Given the description of an element on the screen output the (x, y) to click on. 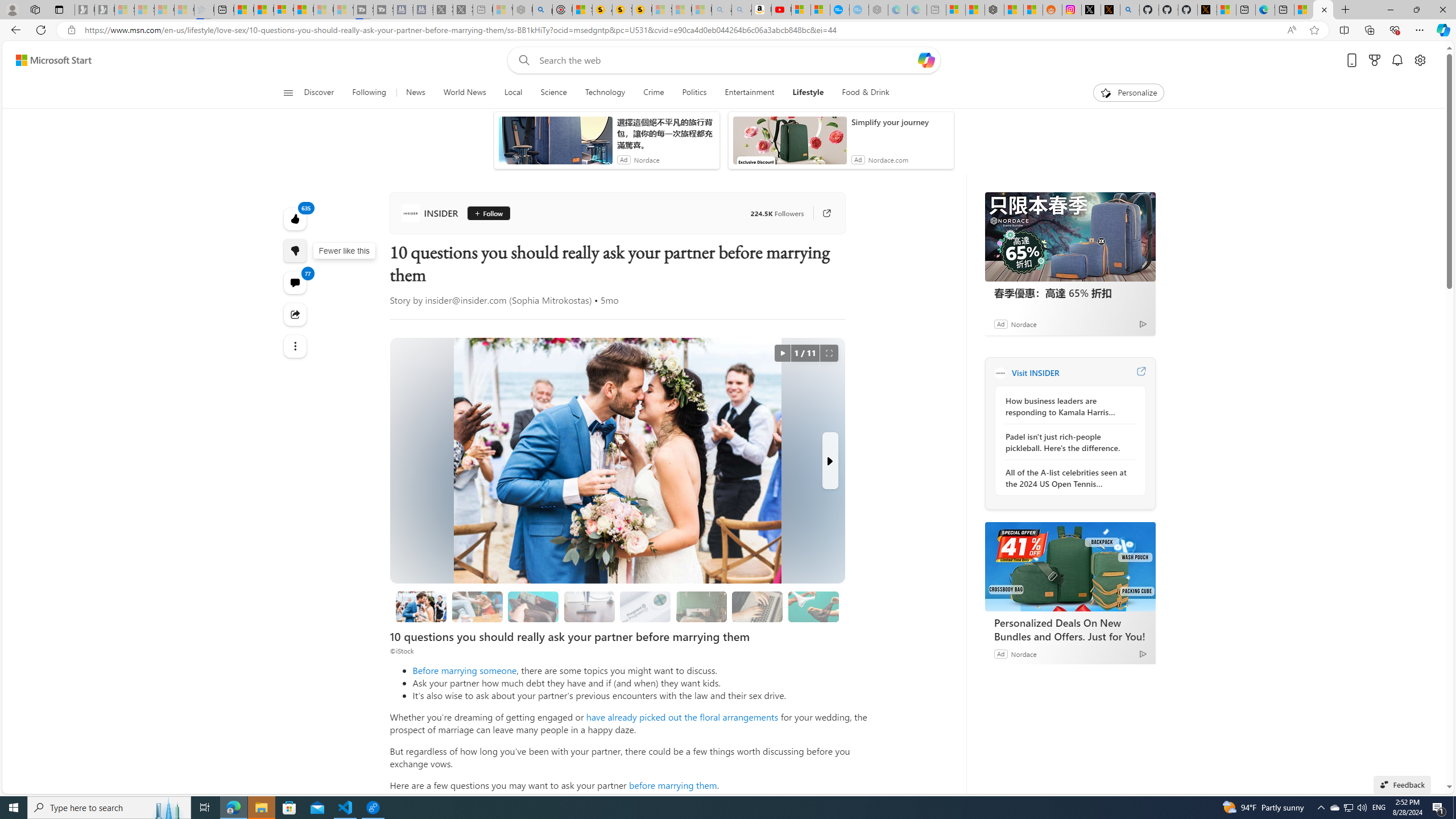
Technology (604, 92)
Following (368, 92)
Lifestyle (807, 92)
autorotate button (782, 352)
Shanghai, China Weather trends | Microsoft Weather (1033, 9)
Two friend sitting at a coffee shop petting a dog. (476, 606)
Minimize (1390, 9)
Notifications (1397, 60)
Nordace - Nordace has arrived Hong Kong - Sleeping (877, 9)
Dislike (295, 250)
Ad Choice (1142, 653)
